Given the description of an element on the screen output the (x, y) to click on. 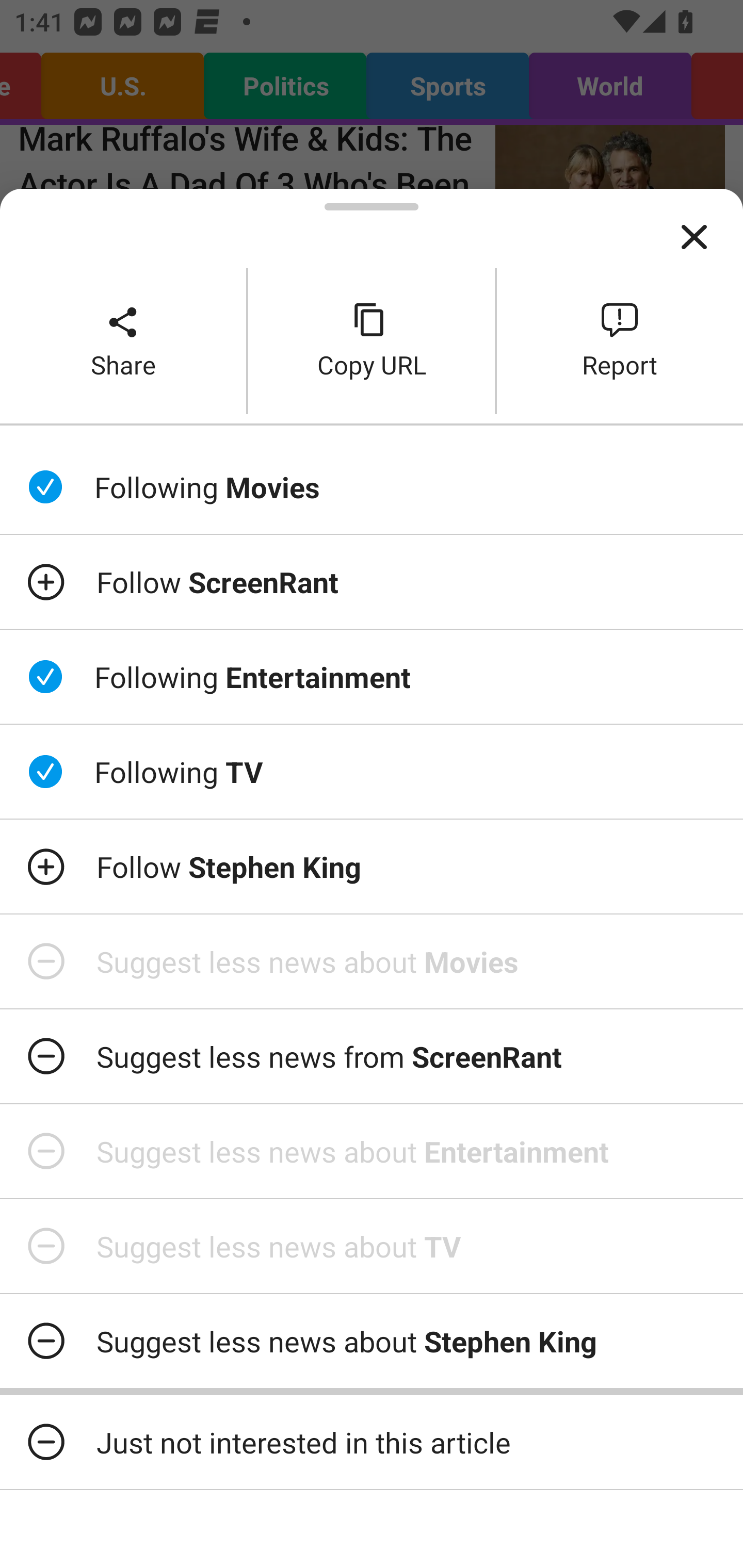
Close (694, 237)
Share (122, 340)
Copy URL (371, 340)
Report (620, 340)
Following Movies (371, 486)
Follow ScreenRant (371, 581)
Following Entertainment (371, 677)
Following TV (371, 771)
Follow Stephen King (371, 867)
Suggest less news about Movies (371, 961)
Suggest less news from ScreenRant (371, 1056)
Suggest less news about Entertainment (371, 1150)
Suggest less news about TV (371, 1246)
Suggest less news about Stephen King (371, 1340)
Just not interested in this article (371, 1442)
